Given the description of an element on the screen output the (x, y) to click on. 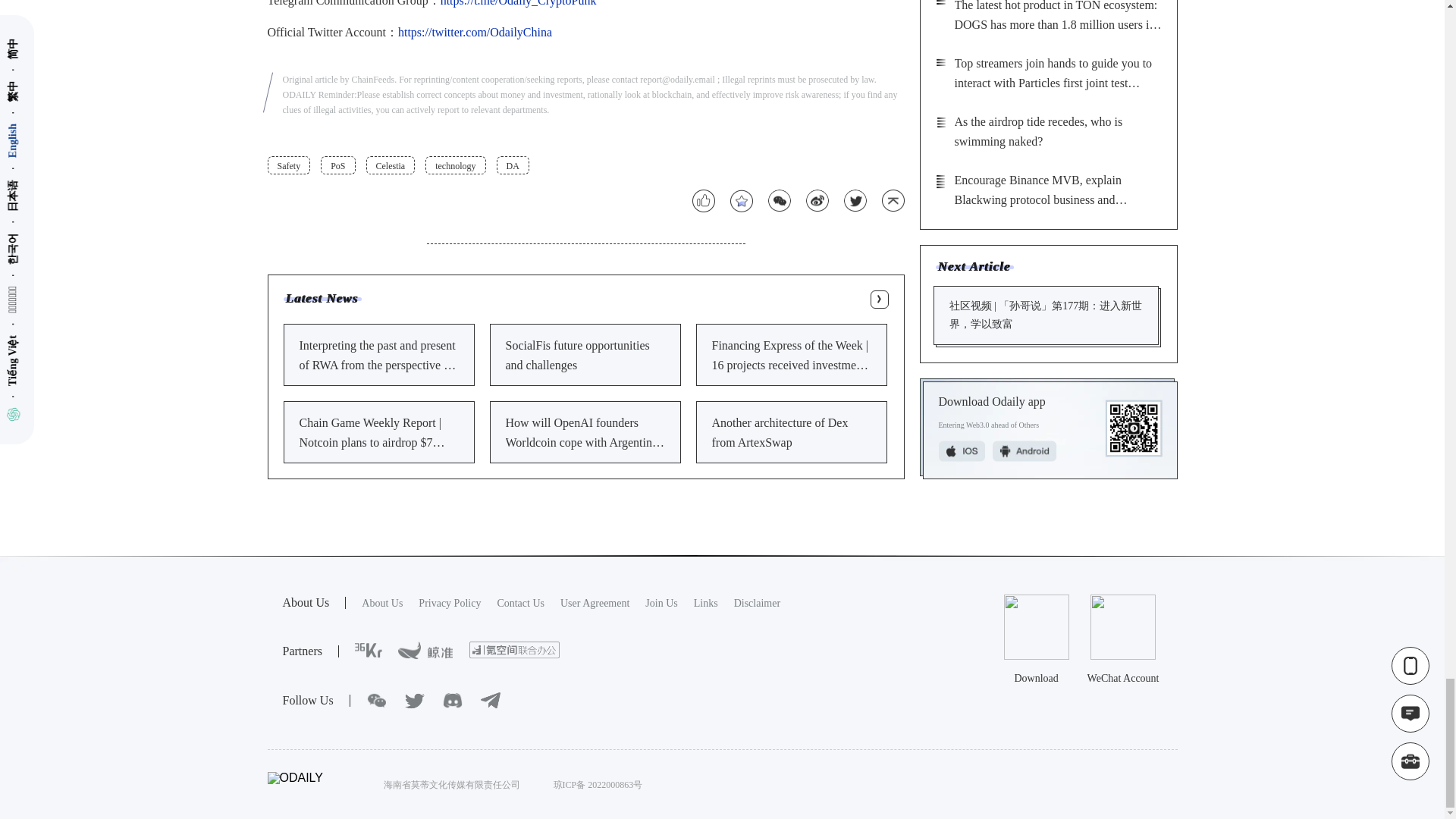
Odaily (449, 603)
Share to Twitter (854, 200)
Odaily (520, 603)
Odaily (594, 603)
Odaily (705, 603)
Odaily (756, 603)
Odaily (382, 603)
Odaily (368, 650)
Odaily (661, 603)
Odaily (424, 650)
Odaily (514, 650)
